Given the description of an element on the screen output the (x, y) to click on. 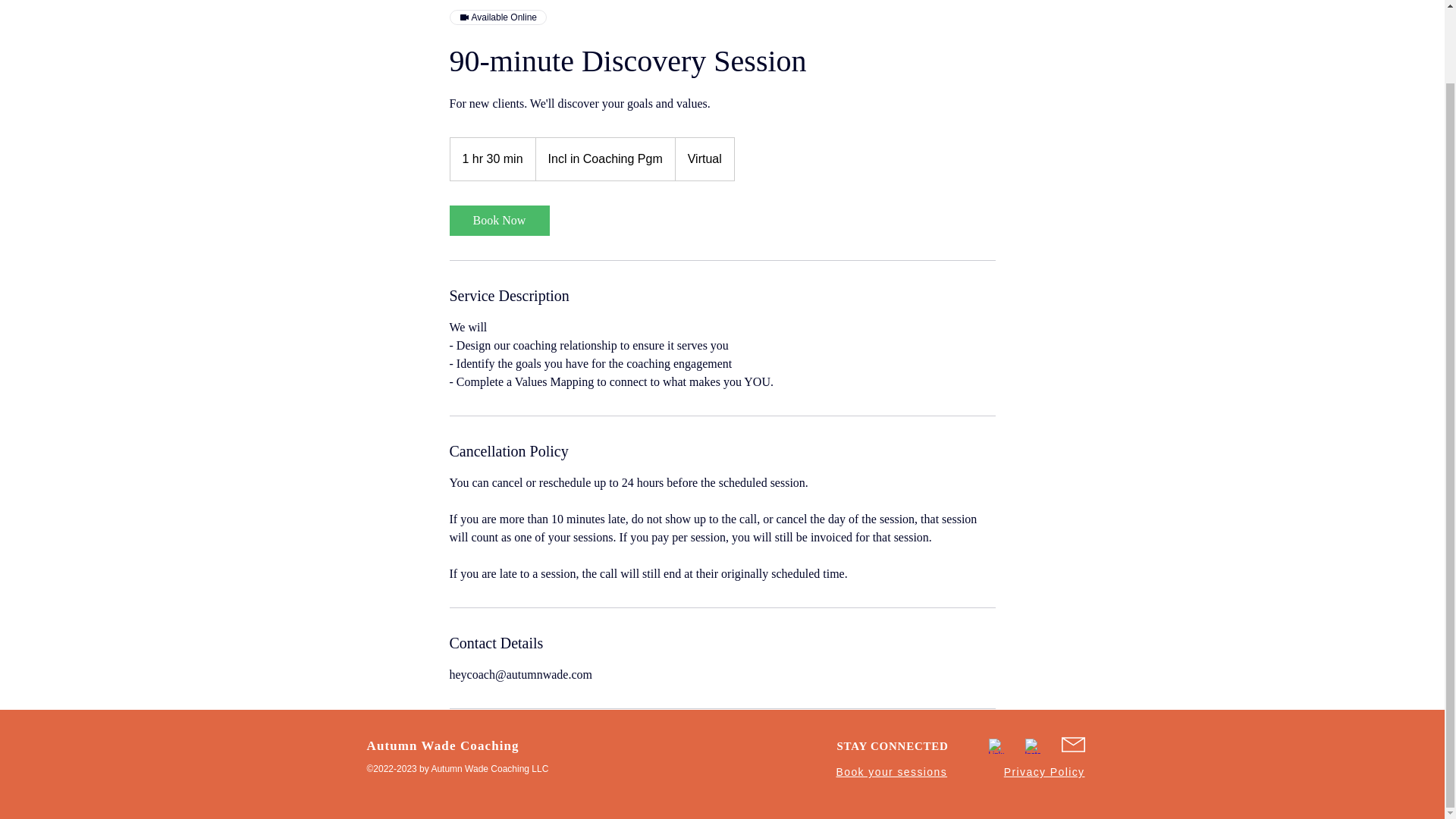
Book your sessions (891, 771)
Book Now (498, 220)
Privacy Policy (1044, 771)
